Given the description of an element on the screen output the (x, y) to click on. 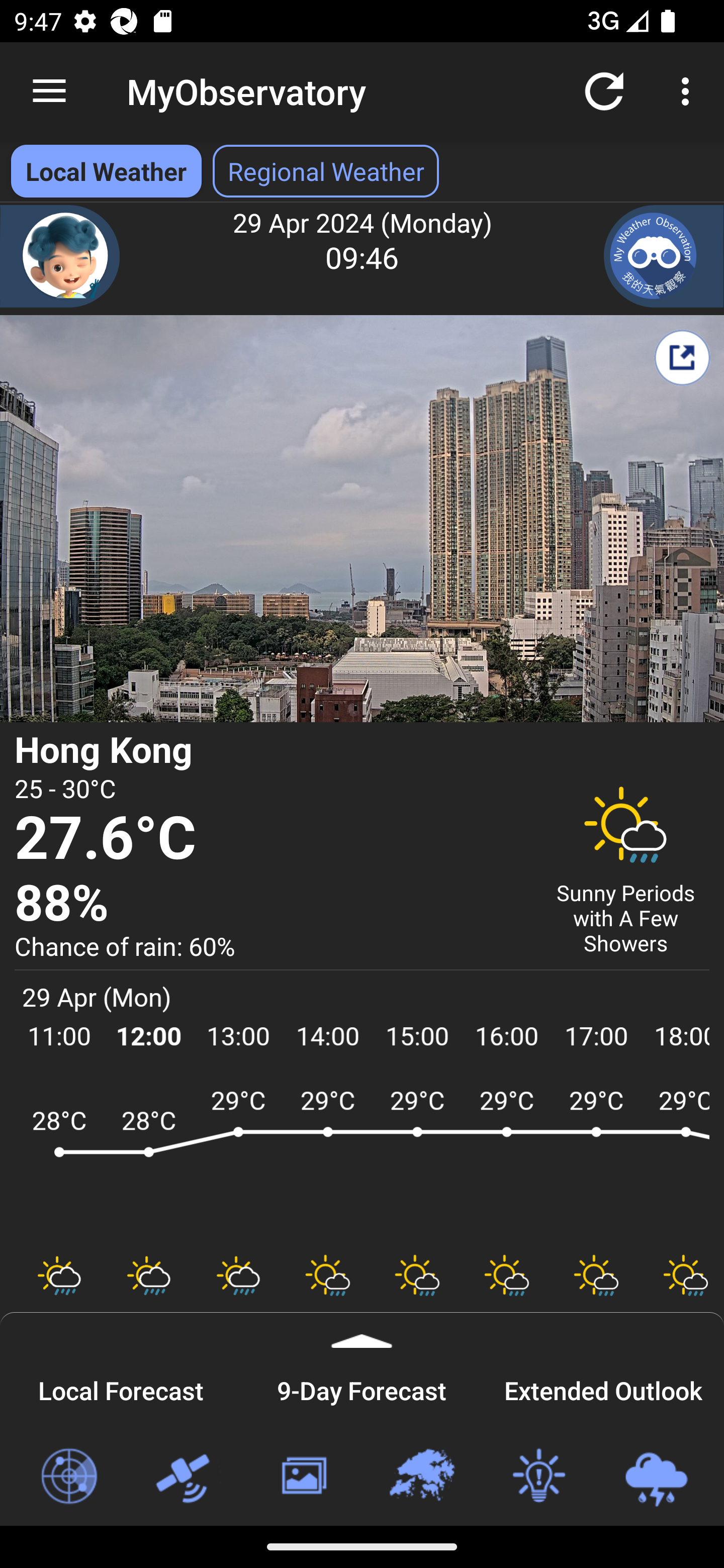
Navigate up (49, 91)
Refresh (604, 90)
More options (688, 90)
Local Weather Local Weather selected (105, 170)
Regional Weather Select Regional Weather (325, 170)
Chatbot (60, 256)
My Weather Observation (663, 256)
Share My Weather Report (681, 357)
27.6°C Temperature
27.6 degree Celsius (270, 839)
88% Relative Humidity
88 percent (270, 903)
ARWF (361, 1160)
Expand (362, 1330)
Local Forecast (120, 1387)
Extended Outlook (603, 1387)
Radar Images (68, 1476)
Satellite Images (185, 1476)
Weather Photos (302, 1476)
Regional Weather (420, 1476)
Weather Tips (537, 1476)
Loc-based Rain & Lightning Forecast (655, 1476)
